Given the description of an element on the screen output the (x, y) to click on. 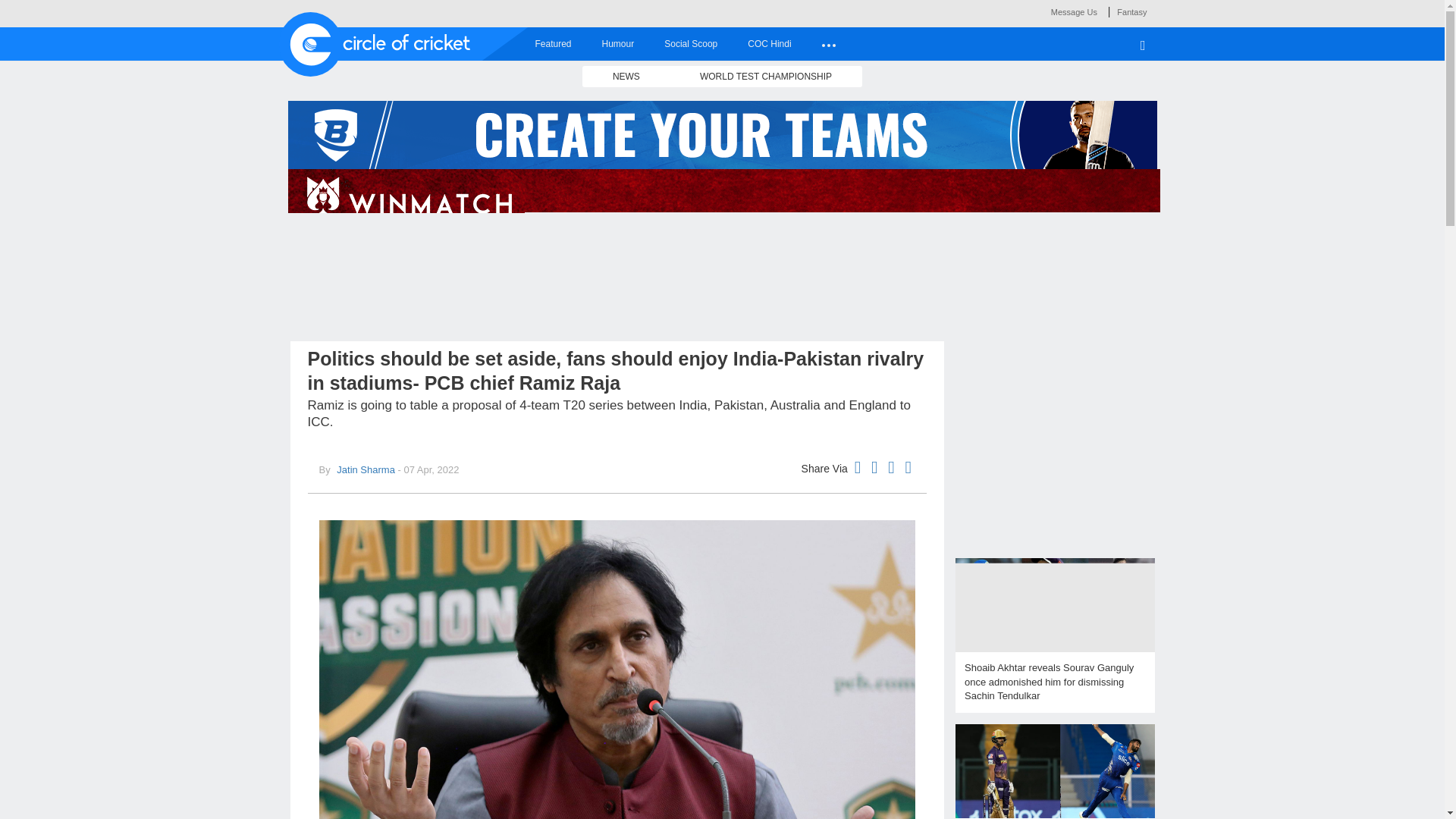
Jatin Sharma (364, 469)
Message Us (1074, 11)
NEWS (625, 76)
WORLD TEST CHAMPIONSHIP (765, 76)
Social Scoop (690, 43)
Featured (552, 43)
Fantasy (1131, 11)
COC Hindi (769, 43)
